Given the description of an element on the screen output the (x, y) to click on. 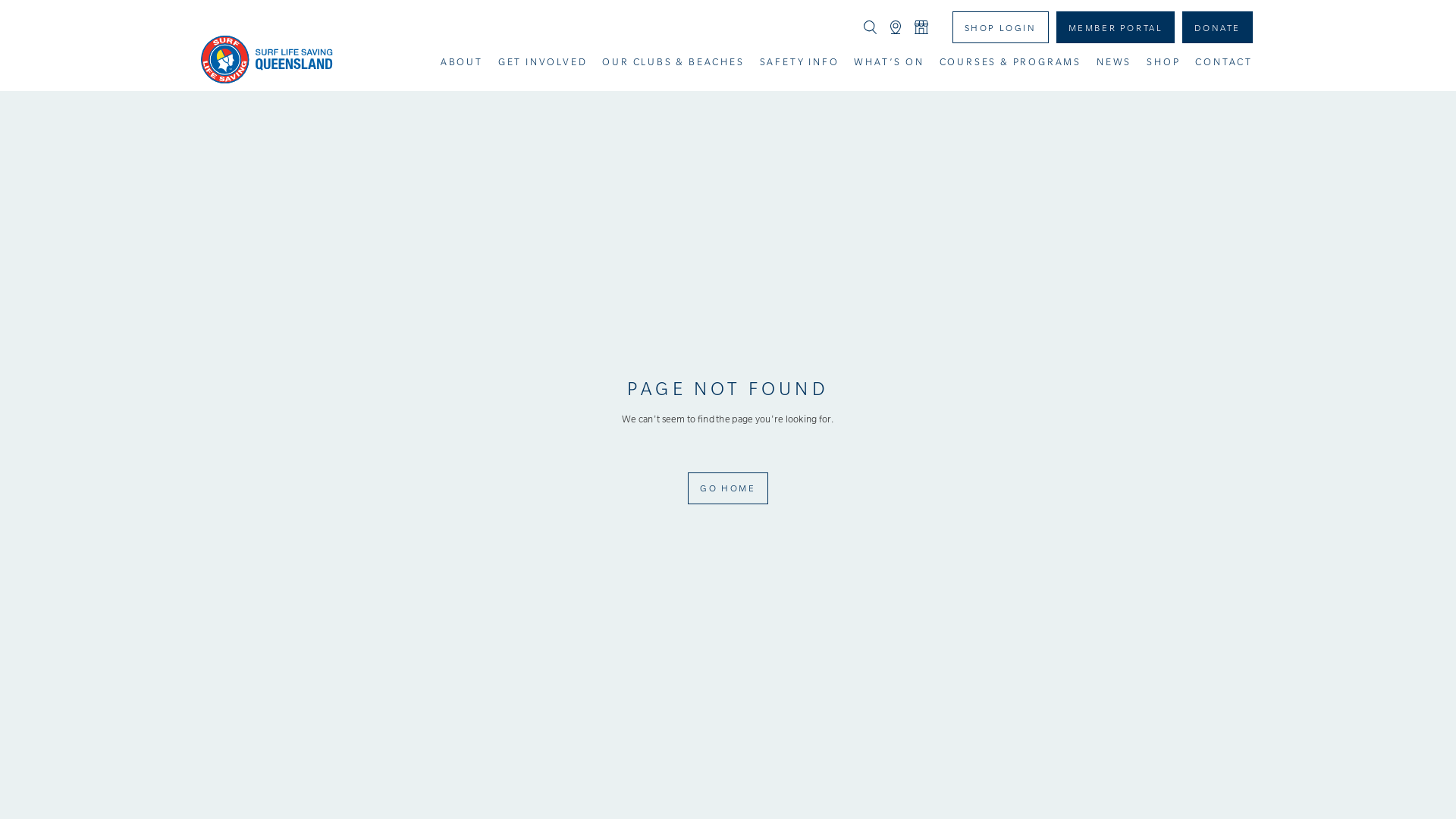
SHOP LOGIN Element type: text (1000, 27)
MEMBER PORTAL Element type: text (1115, 27)
Open Search Element type: text (870, 27)
COURSES & PROGRAMS Element type: text (1010, 61)
SHOP Element type: text (1162, 61)
Surf Life Saving Queenland Element type: text (266, 59)
ABOUT Element type: text (461, 61)
GET INVOLVED Element type: text (542, 61)
GO HOME Element type: text (727, 488)
DONATE Element type: text (1217, 27)
NEWS Element type: text (1113, 61)
SAFETY INFO Element type: text (799, 61)
OUR CLUBS & BEACHES Element type: text (672, 61)
CONTACT Element type: text (1223, 61)
